Given the description of an element on the screen output the (x, y) to click on. 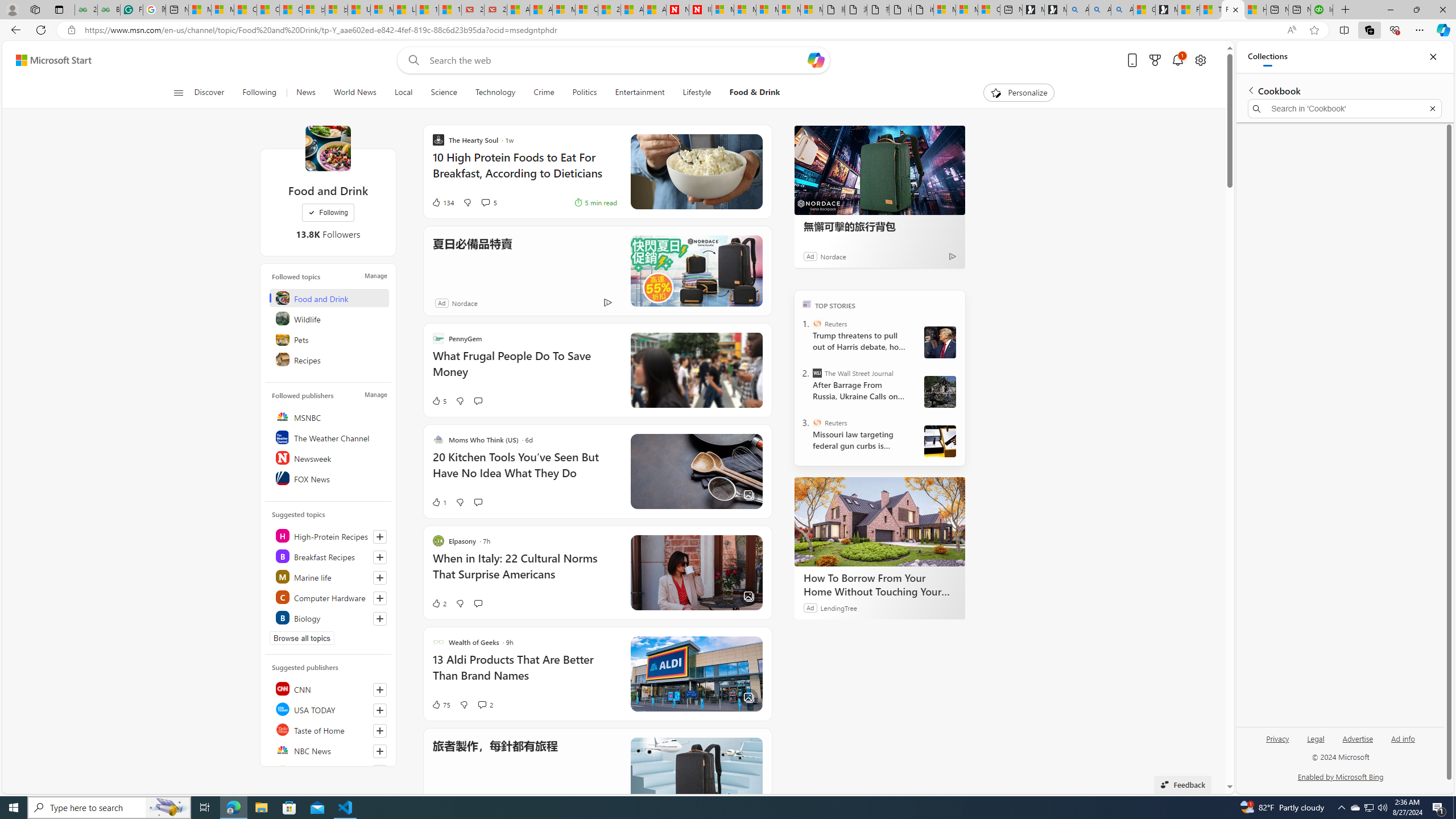
Skip to footer (46, 59)
Collections (1369, 29)
The Wall Street Journal (816, 372)
Consumer Health Data Privacy Policy (988, 9)
15 Ways Modern Life Contradicts the Teachings of Jesus (449, 9)
Close tab (1235, 9)
Follow this source (379, 751)
134 Like (442, 202)
Minimize (1390, 9)
Tab actions menu (58, 9)
Microsoft Start Gaming (1166, 9)
Open navigation menu (177, 92)
